Given the description of an element on the screen output the (x, y) to click on. 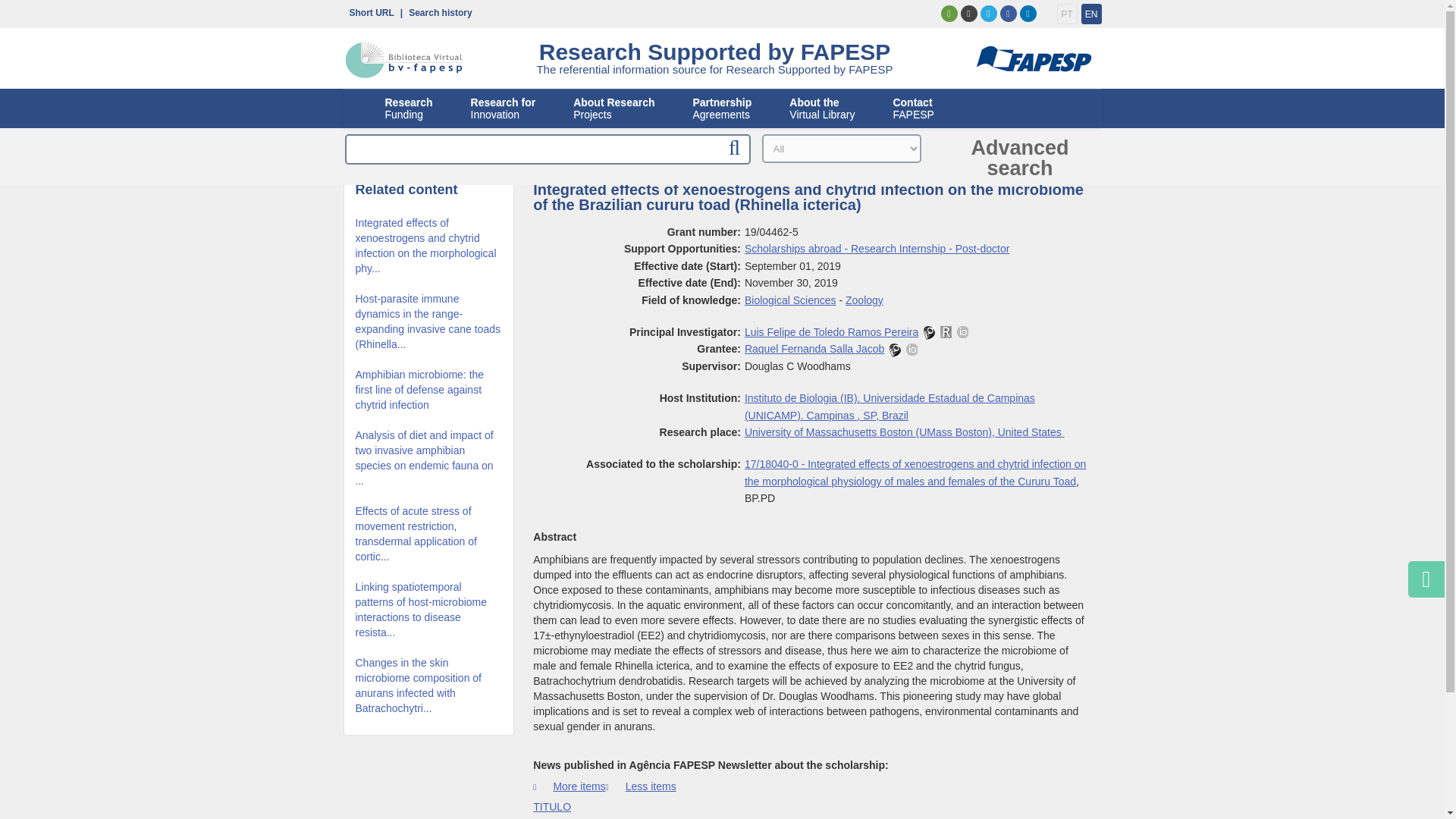
Short URL (503, 107)
bv-cdi (367, 10)
Email (403, 60)
Host Institution (948, 13)
PT (889, 406)
URL curto (1067, 14)
Search history (409, 107)
EN (367, 10)
FAPESP (437, 10)
